Given the description of an element on the screen output the (x, y) to click on. 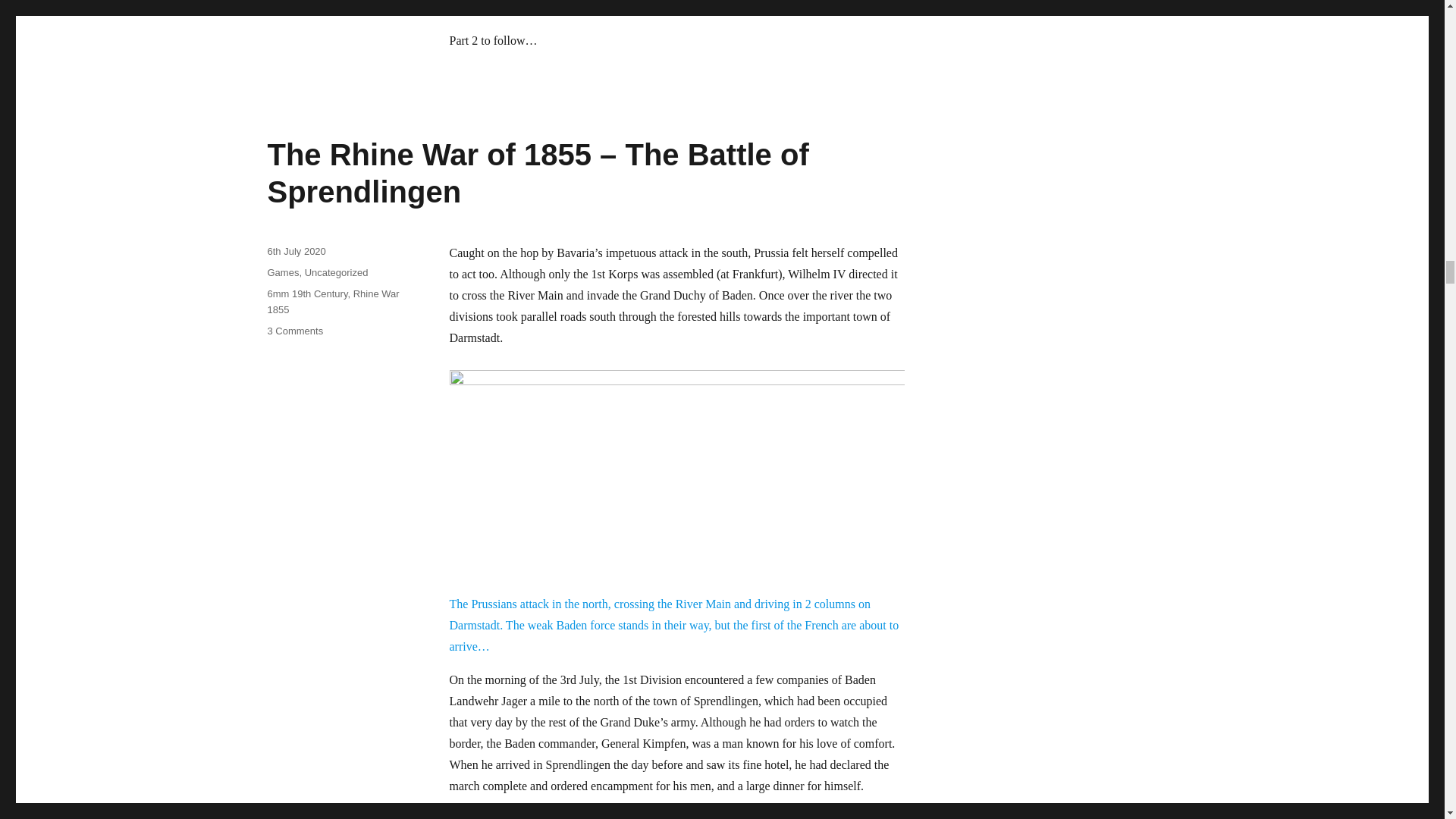
Uncategorized (336, 272)
6th July 2020 (295, 251)
Rhine War 1855 (332, 301)
6mm 19th Century (306, 293)
Games (282, 272)
